Given the description of an element on the screen output the (x, y) to click on. 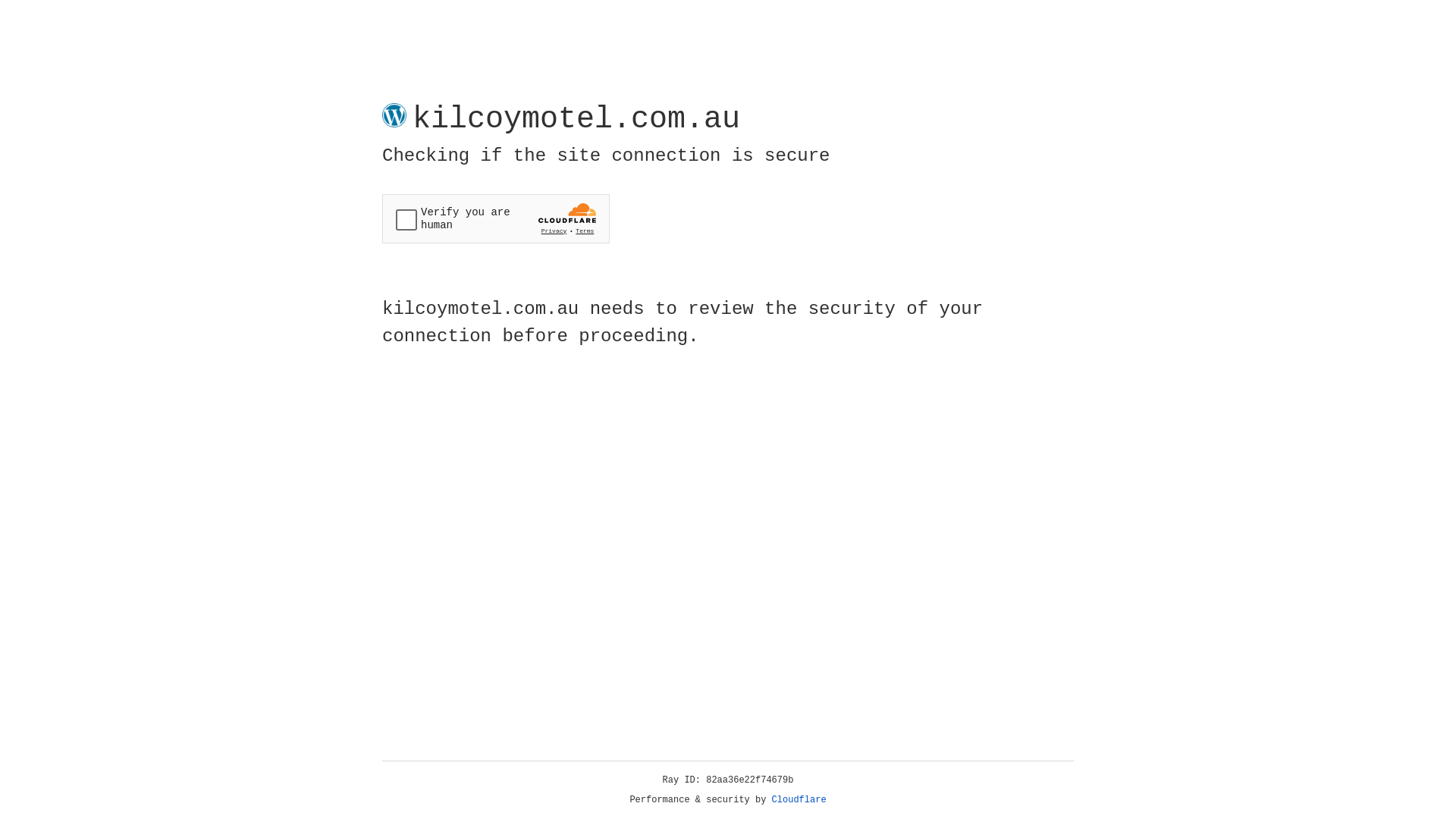
Widget containing a Cloudflare security challenge Element type: hover (495, 218)
Cloudflare Element type: text (798, 799)
